Given the description of an element on the screen output the (x, y) to click on. 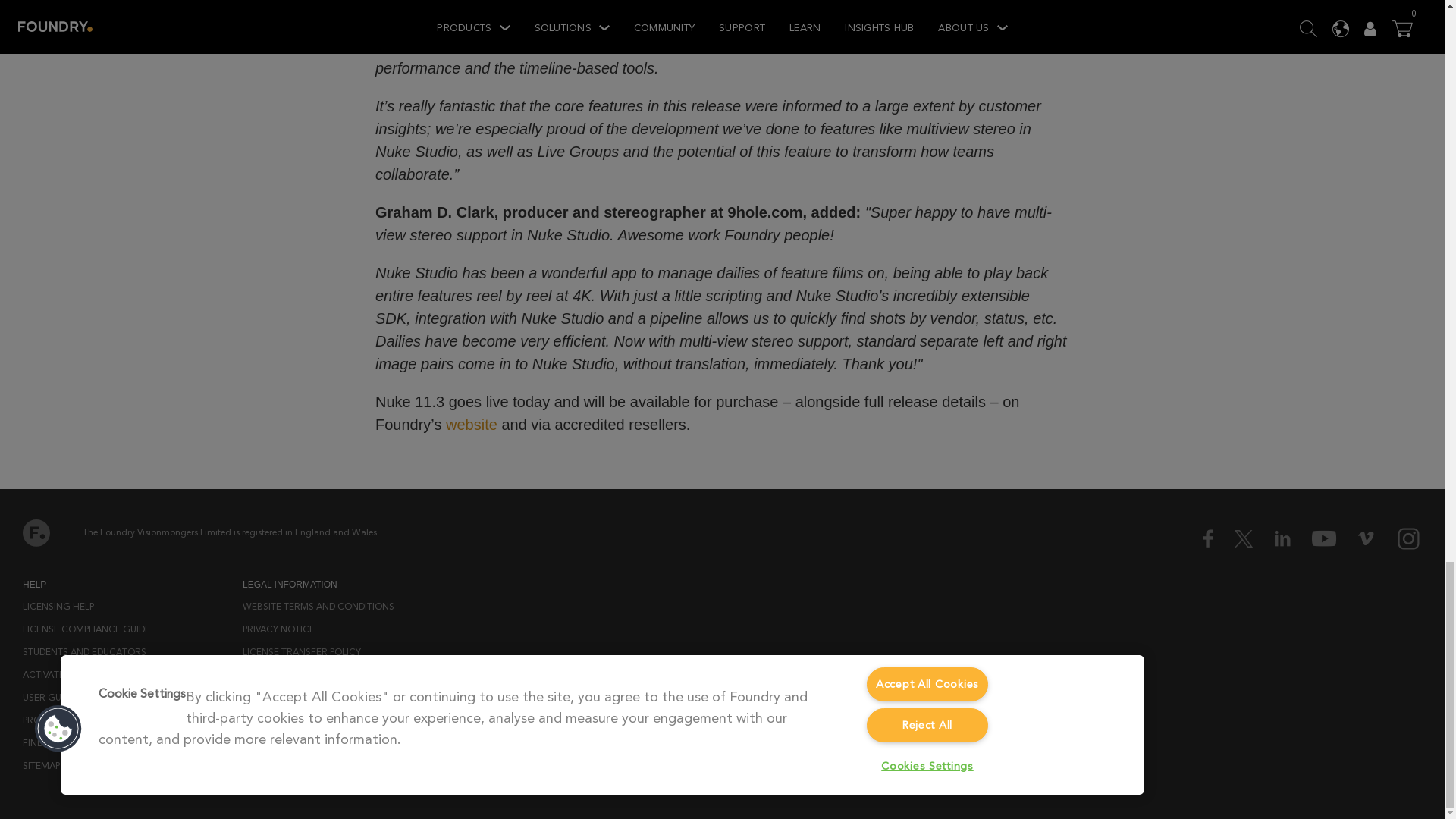
Foundry product downloads (93, 720)
